Given the description of an element on the screen output the (x, y) to click on. 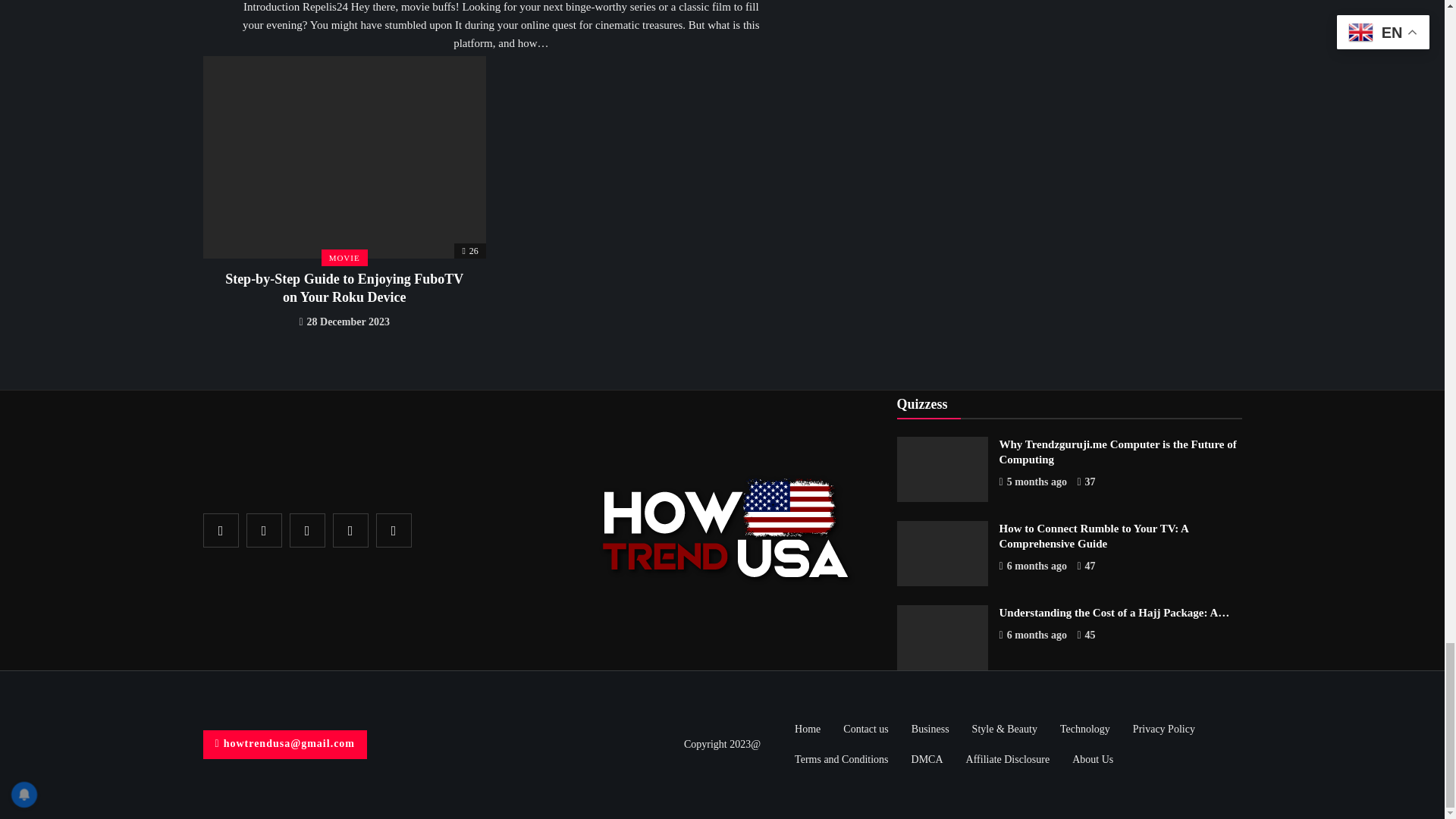
Step-by-Step Guide to Enjoying FuboTV on Your Roku Device (344, 157)
Step-by-Step Guide to Enjoying FuboTV on Your Roku Device (344, 287)
